Given the description of an element on the screen output the (x, y) to click on. 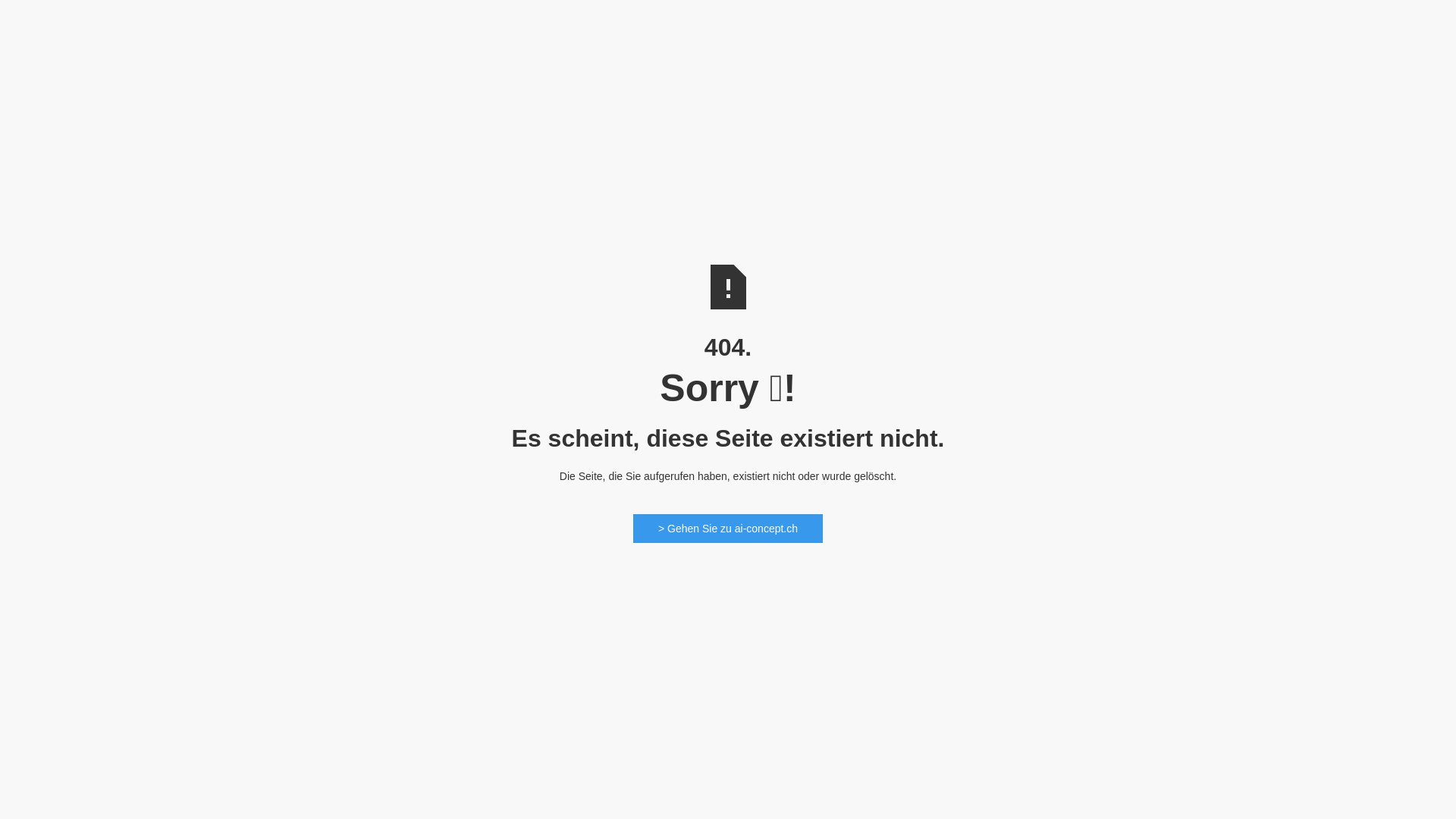
> Gehen Sie zu ai-concept.ch Element type: text (727, 528)
